Given the description of an element on the screen output the (x, y) to click on. 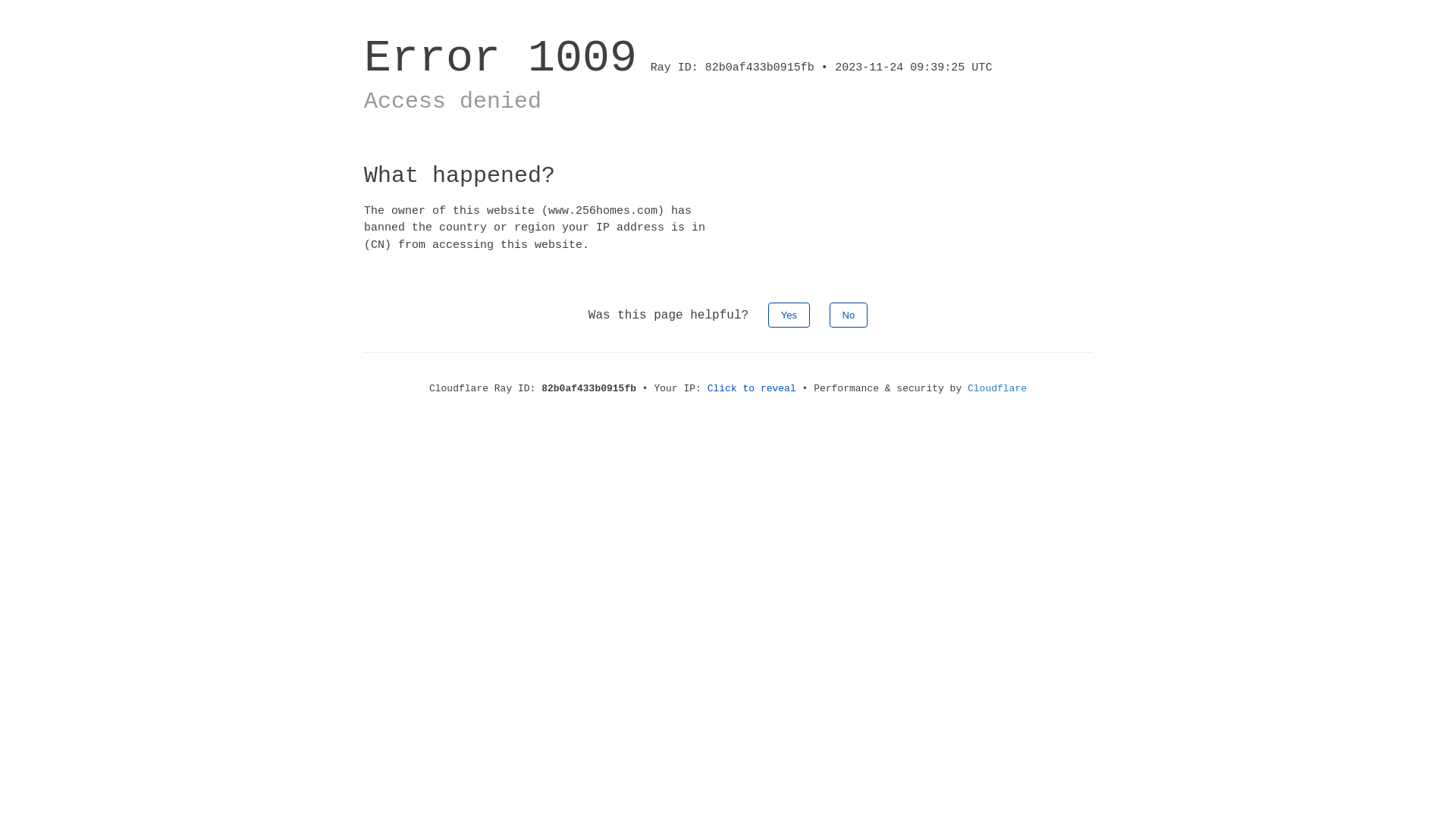
No Element type: text (848, 314)
Click to reveal Element type: text (751, 388)
Cloudflare Element type: text (996, 388)
Yes Element type: text (788, 314)
